Given the description of an element on the screen output the (x, y) to click on. 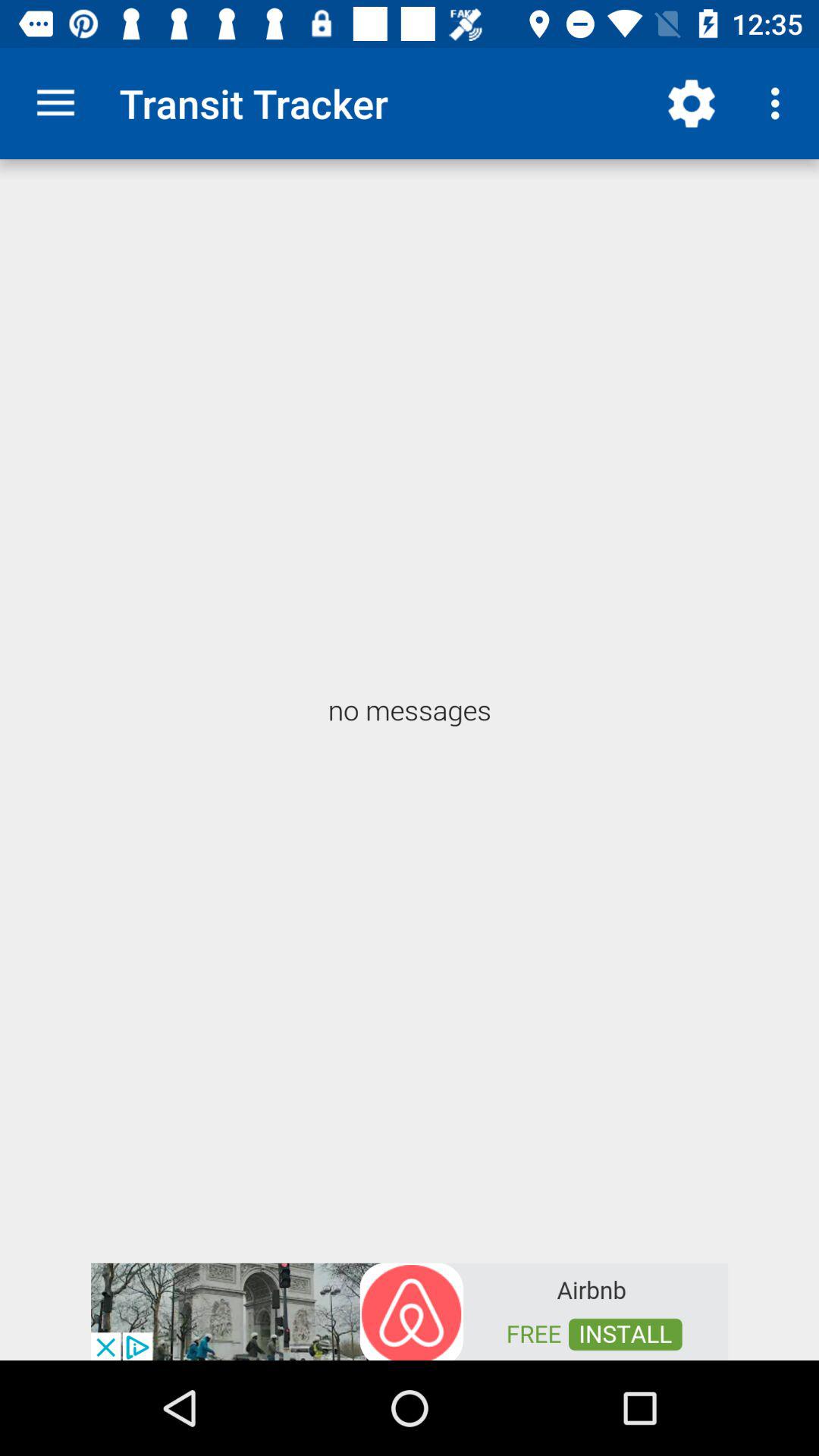
advertisement (409, 1310)
